Given the description of an element on the screen output the (x, y) to click on. 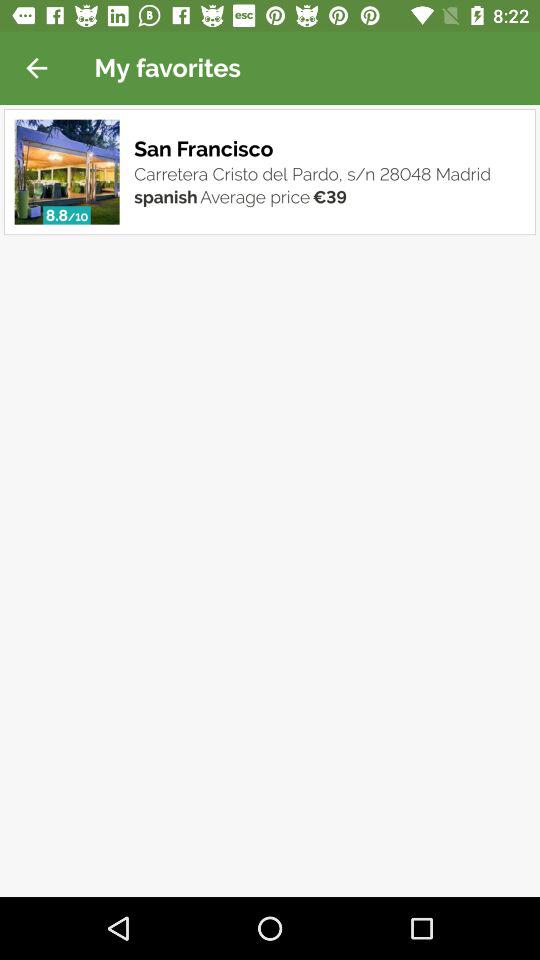
turn off icon next to my favorites (36, 68)
